Given the description of an element on the screen output the (x, y) to click on. 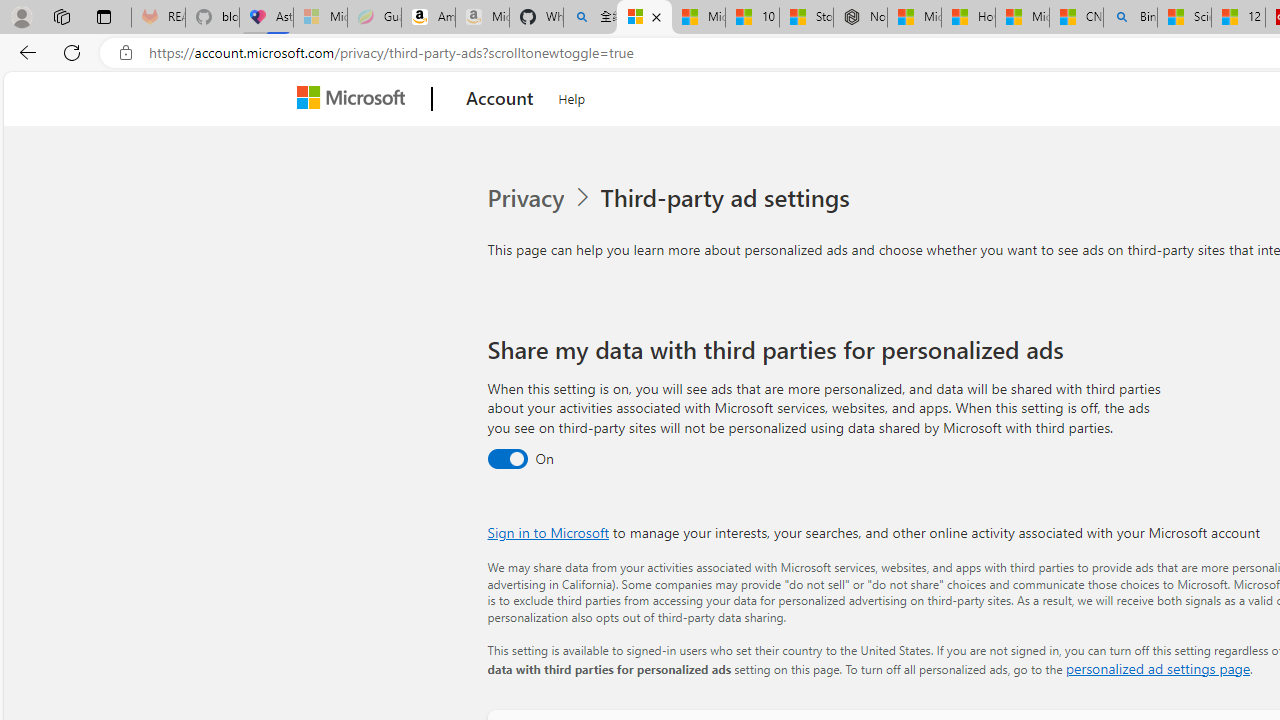
personalized ad settings page (1157, 668)
Third-party ad settings (729, 197)
Science - MSN (1184, 17)
Privacy (527, 197)
